Given the description of an element on the screen output the (x, y) to click on. 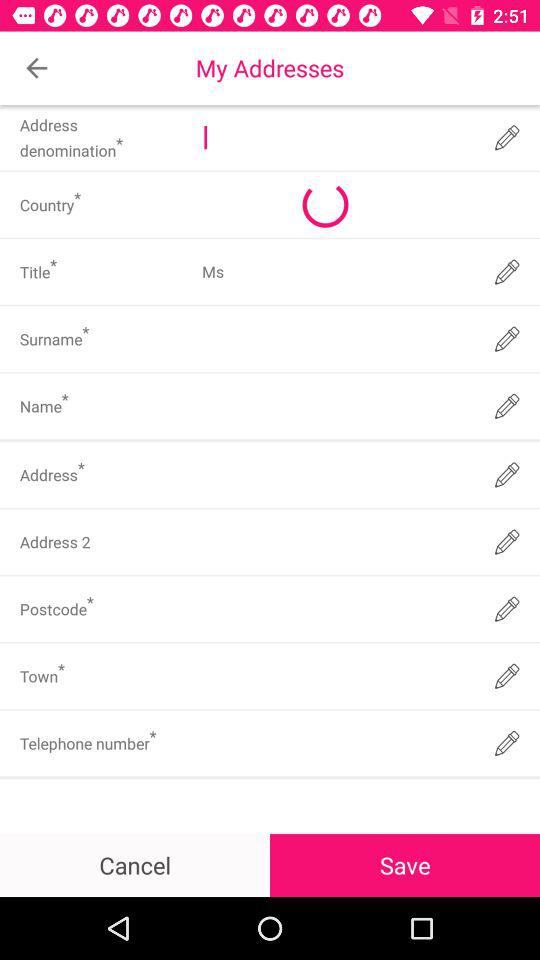
surname (335, 339)
